Given the description of an element on the screen output the (x, y) to click on. 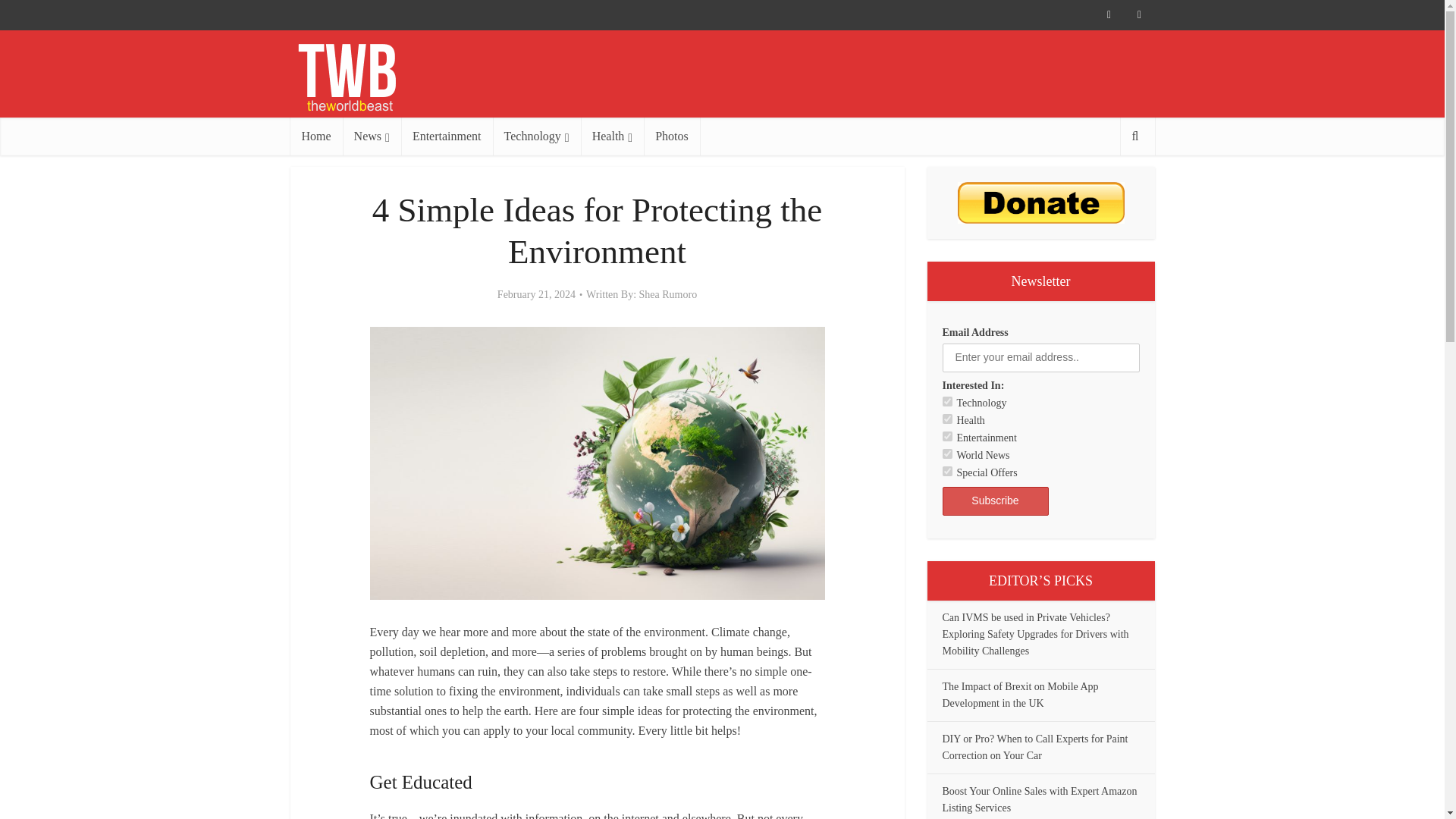
Photos (671, 136)
Entertainment (447, 136)
The Impact of Brexit on Mobile App Development in the UK (1019, 694)
Shea Rumoro (668, 295)
Entertainment (947, 436)
Subscribe (995, 500)
World News (947, 453)
Home (315, 136)
Subscribe (995, 500)
